Given the description of an element on the screen output the (x, y) to click on. 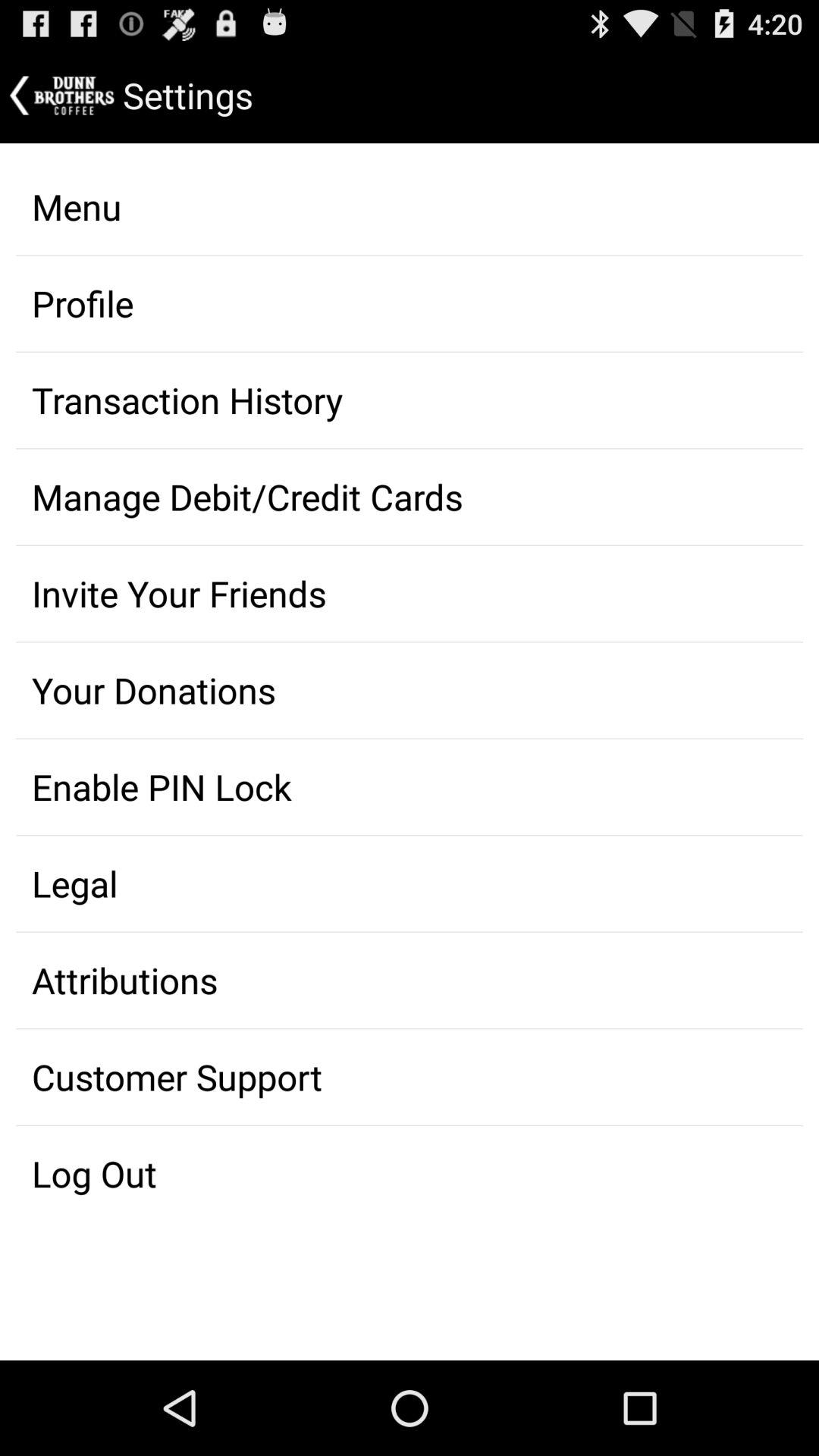
click the icon above customer support icon (409, 980)
